Given the description of an element on the screen output the (x, y) to click on. 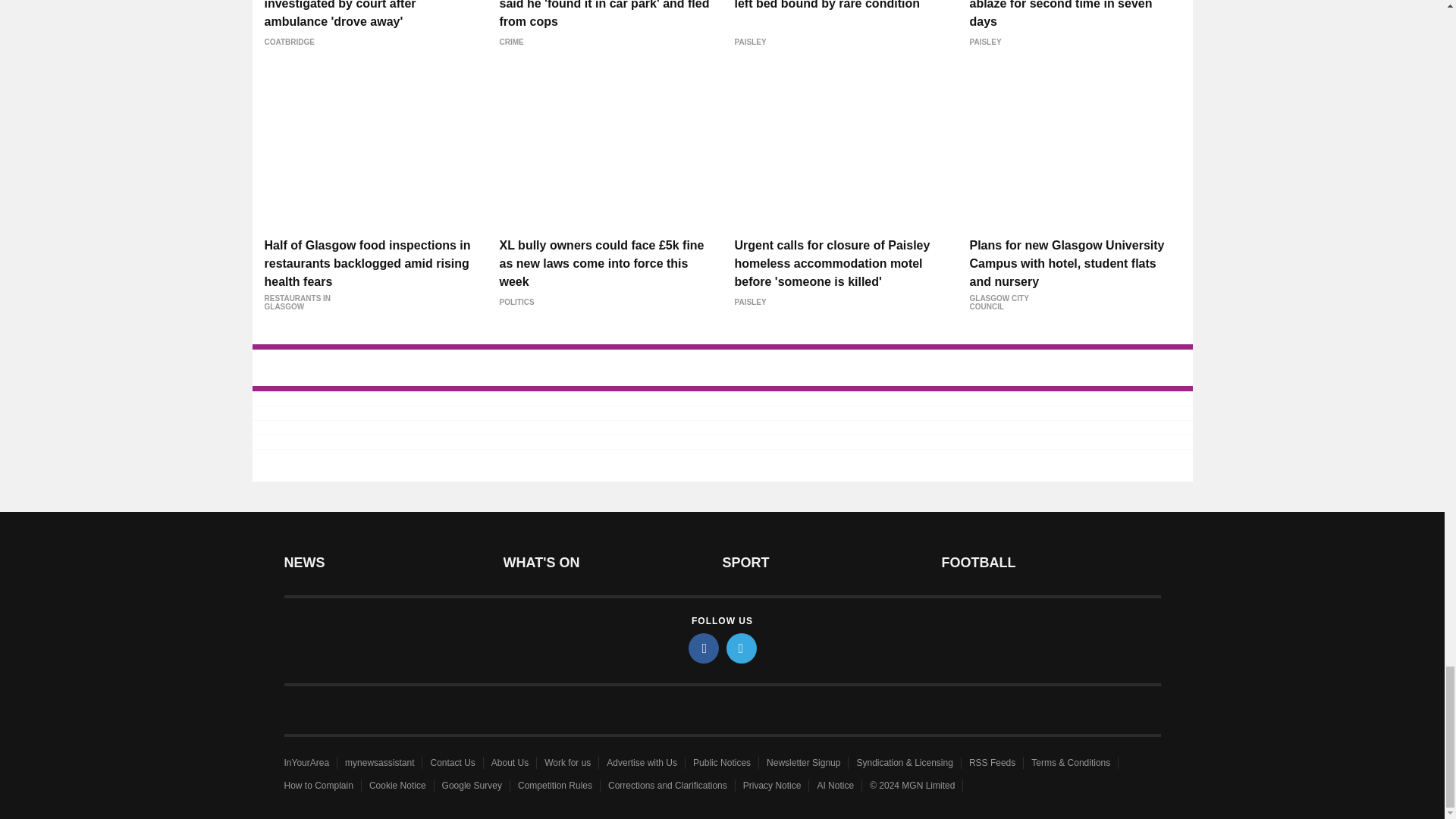
twitter (741, 648)
facebook (703, 648)
